Given the description of an element on the screen output the (x, y) to click on. 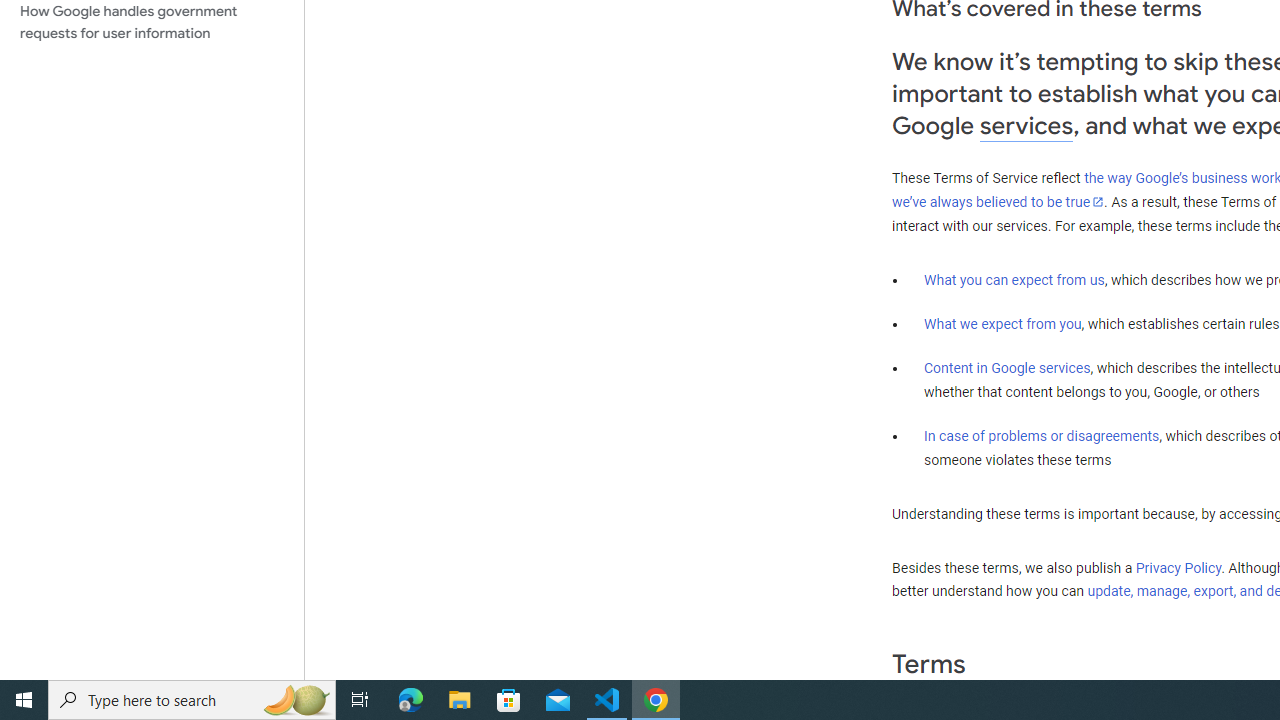
Content in Google services (1007, 368)
Privacy Policy (1178, 567)
services (1026, 125)
What we expect from you (1002, 323)
In case of problems or disagreements (1041, 435)
What you can expect from us (1014, 279)
